Given the description of an element on the screen output the (x, y) to click on. 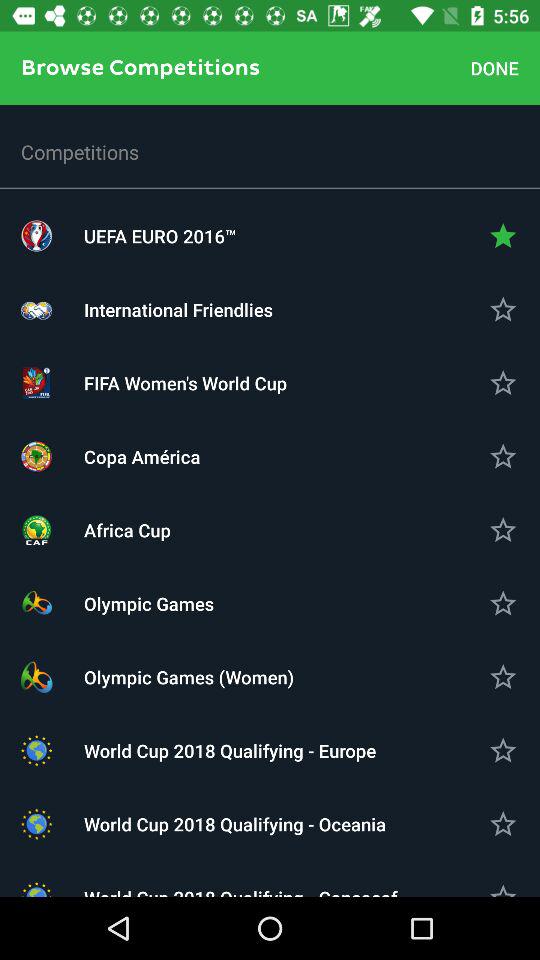
choose icon above africa cup icon (270, 456)
